Given the description of an element on the screen output the (x, y) to click on. 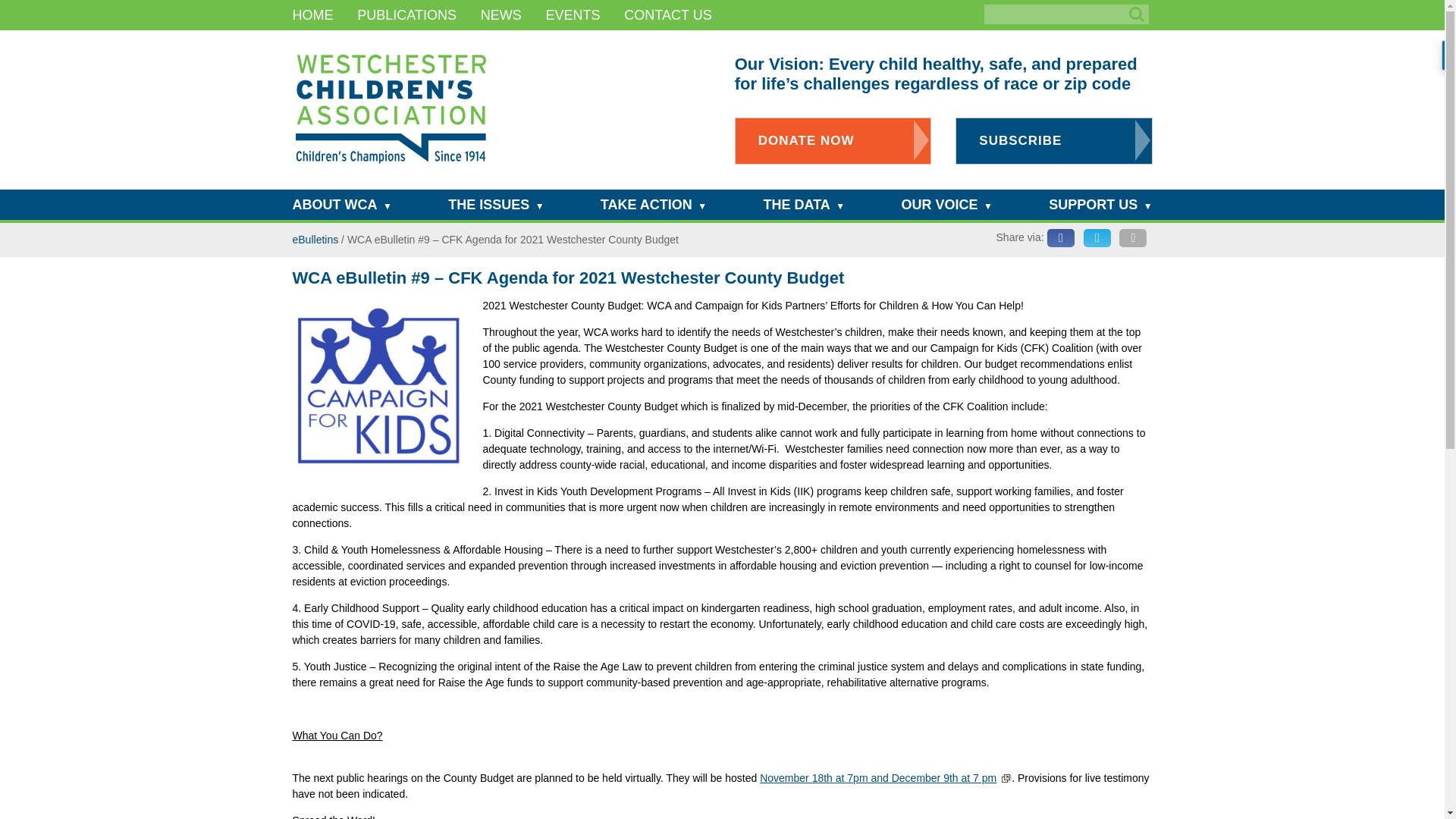
ABOUT WCA (334, 204)
Share this post on Facebook (1060, 238)
TAKE ACTION (646, 204)
Send a link to this post via email (1133, 238)
Share this post on Twitter (1096, 238)
THE DATA (795, 204)
Skip to content (310, 209)
THE ISSUES (488, 204)
CONTACT US (667, 14)
Skip to content (310, 209)
SUBSCRIBE (1053, 140)
Skip to content (310, 20)
EVENTS (572, 14)
Search (1136, 14)
Westchester Children's Association Homepage (389, 108)
